Given the description of an element on the screen output the (x, y) to click on. 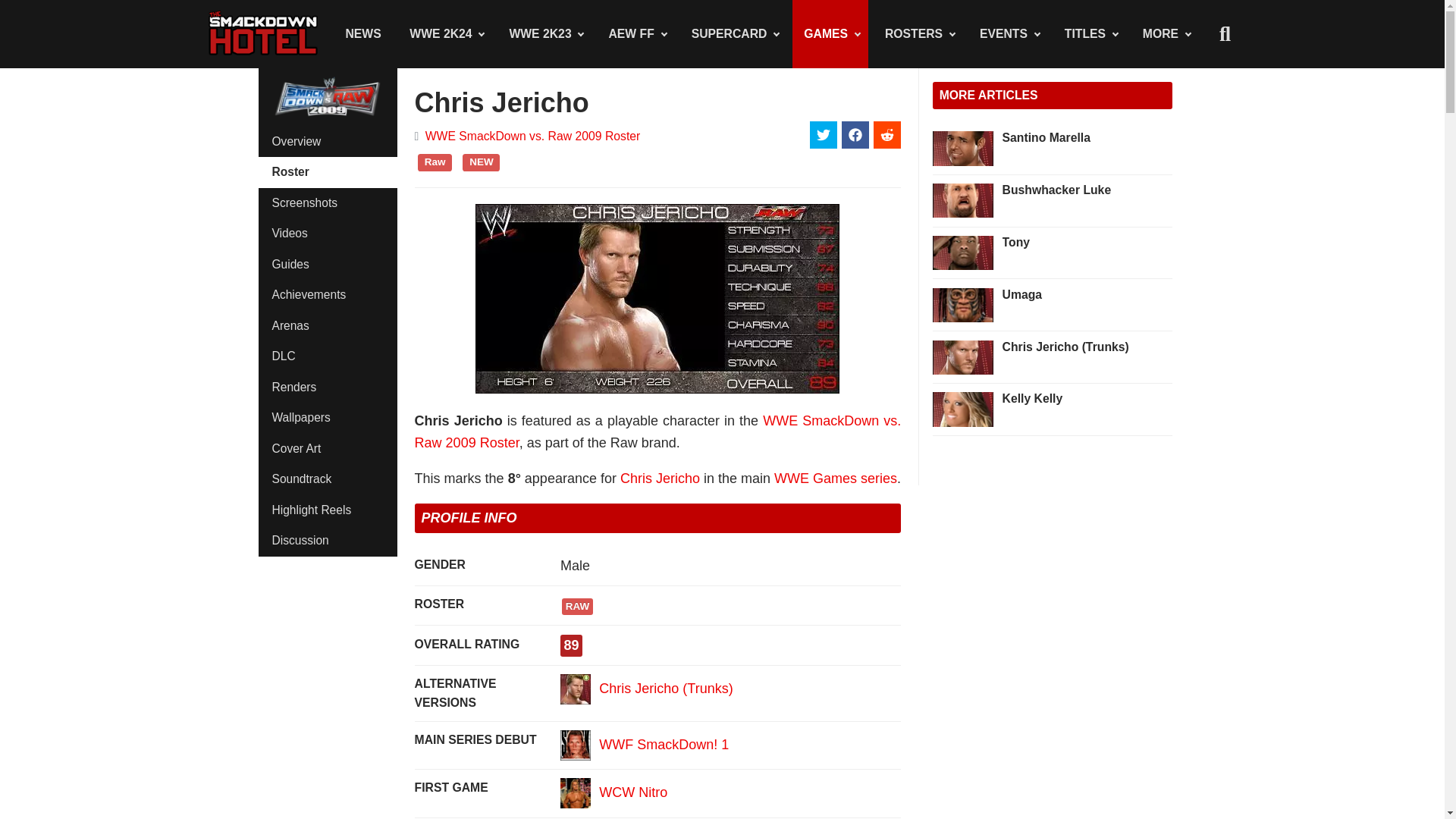
The SmackDown Hotel (263, 33)
The SmackDown Hotel (263, 33)
WWE 2K24 (445, 33)
facebook (855, 134)
reddit (887, 134)
Chris Jericho (575, 793)
Chris jericho new (575, 689)
Chris Jericho (575, 745)
WWE 2K23 (544, 33)
twitter (823, 134)
Chris Jericho - SVR 2009 Roster Profile Countdown (658, 298)
